Given the description of an element on the screen output the (x, y) to click on. 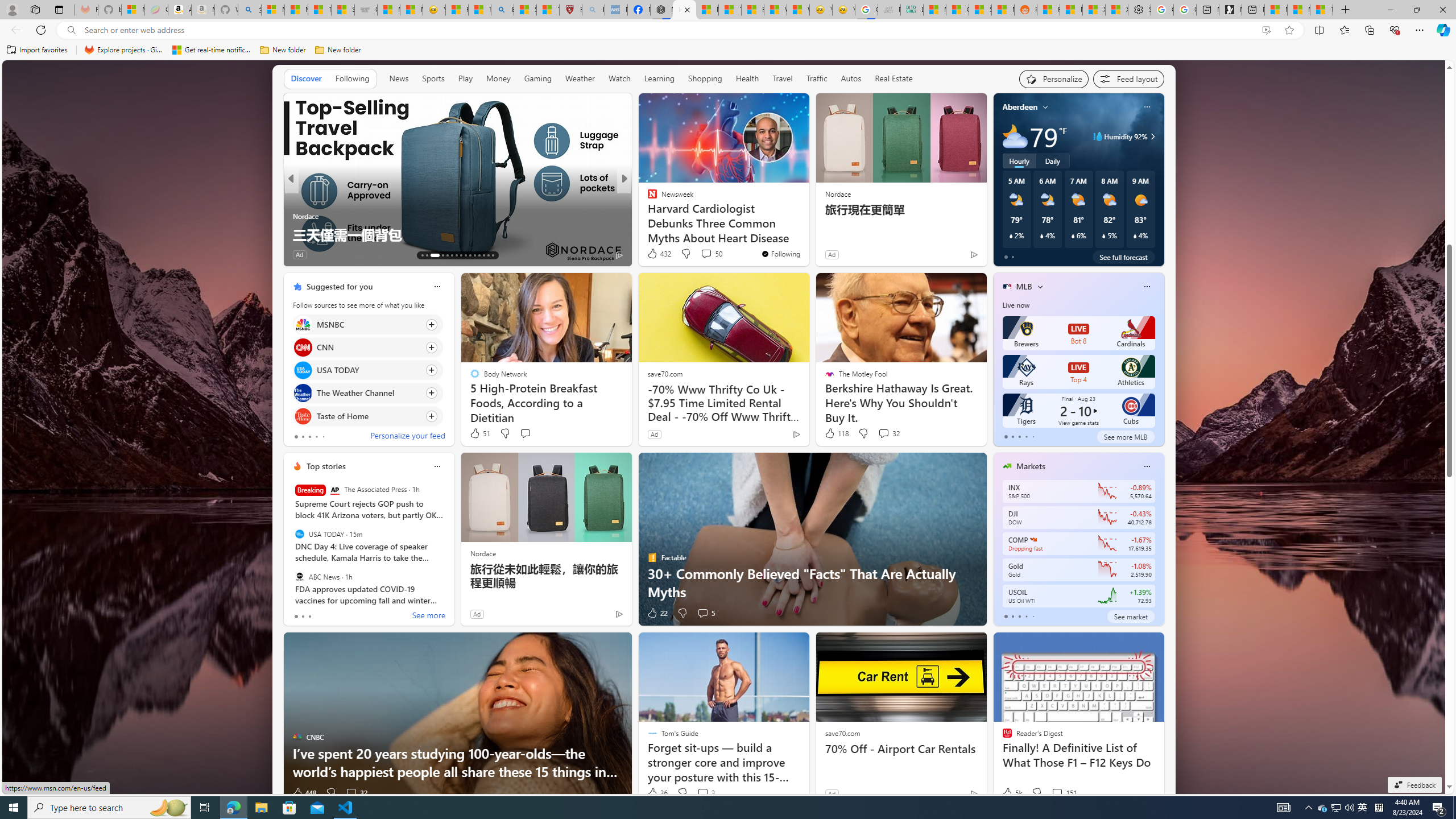
INSIDER (647, 197)
NASDAQ (1032, 539)
Gaming (537, 79)
View comments 28 Comment (704, 254)
View comments 50 Comment (705, 253)
Class: icon-img (1146, 465)
Money (498, 78)
7 Tips for Losing Weight After Age 50 (807, 234)
See more MLB (1125, 436)
